Given the description of an element on the screen output the (x, y) to click on. 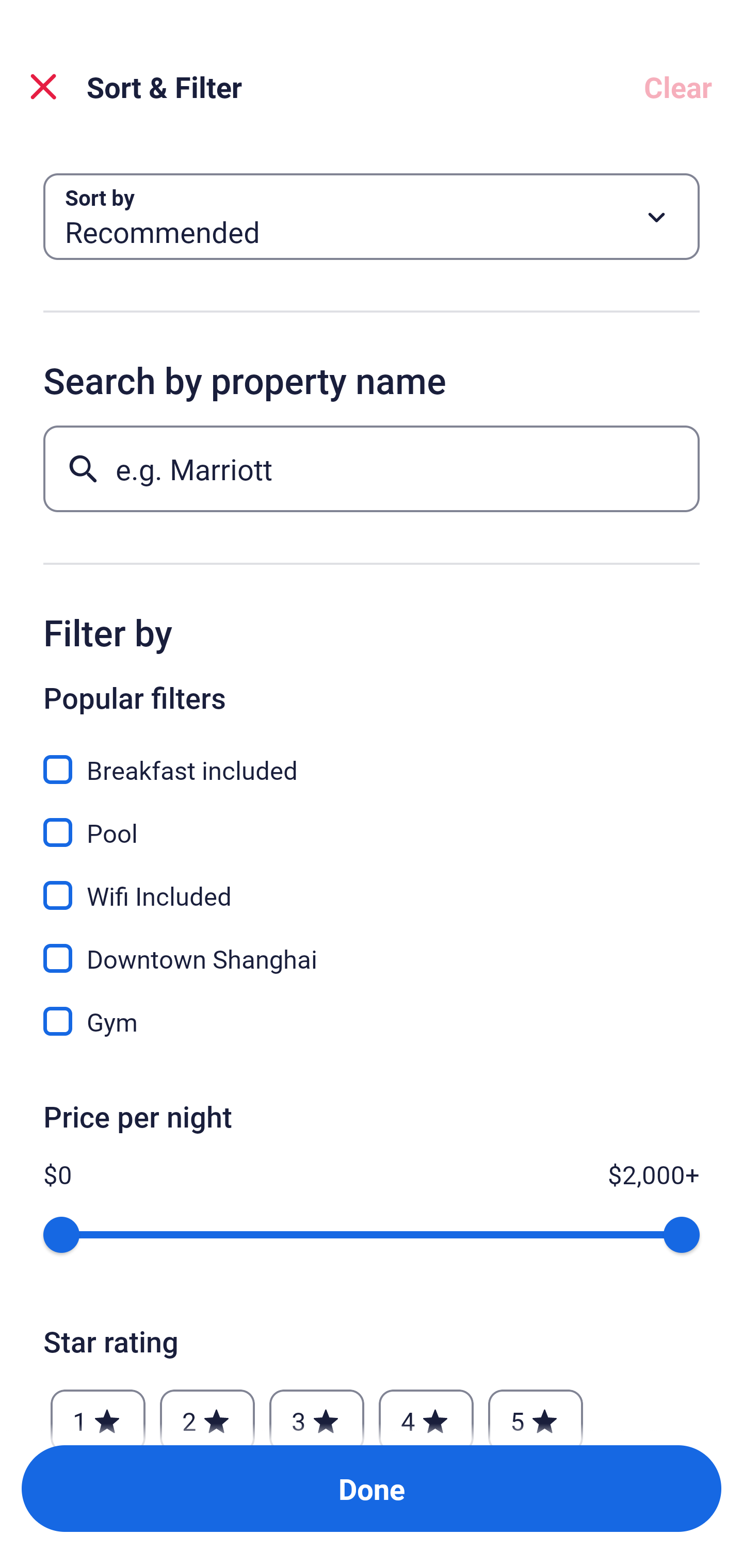
Close Sort and Filter (43, 86)
Clear (677, 86)
Sort by Button Recommended (371, 217)
e.g. Marriott Button (371, 468)
Breakfast included, Breakfast included (371, 757)
Pool, Pool (371, 821)
Wifi Included, Wifi Included (371, 883)
Downtown Shanghai, Downtown Shanghai (371, 946)
Gym, Gym (371, 1021)
1 (97, 1411)
2 (206, 1411)
3 (316, 1411)
4 (426, 1411)
5 (535, 1411)
Apply and close Sort and Filter Done (371, 1488)
